Given the description of an element on the screen output the (x, y) to click on. 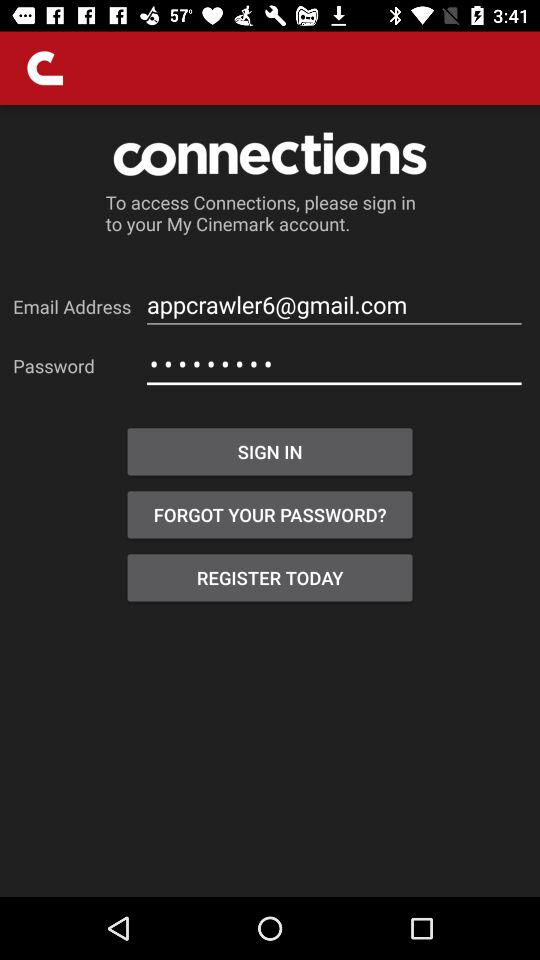
launch the register today item (269, 577)
